Given the description of an element on the screen output the (x, y) to click on. 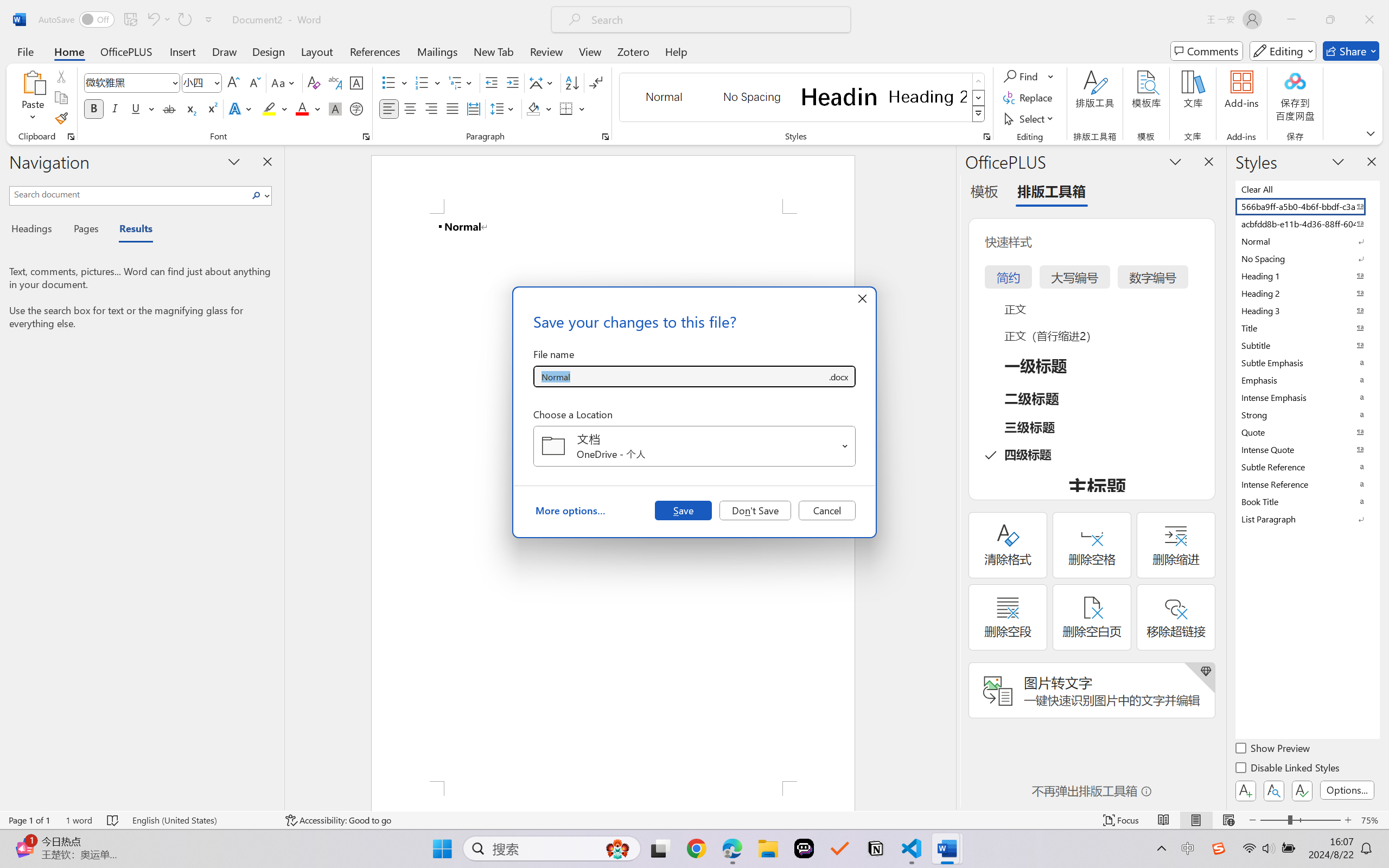
Notion (875, 848)
Options... (1346, 789)
Office Clipboard... (70, 136)
Accessibility Checker Accessibility: Good to go (338, 819)
OfficePLUS (126, 51)
AutomationID: DynamicSearchBoxGleamImage (617, 848)
Font Color Red (302, 108)
